Given the description of an element on the screen output the (x, y) to click on. 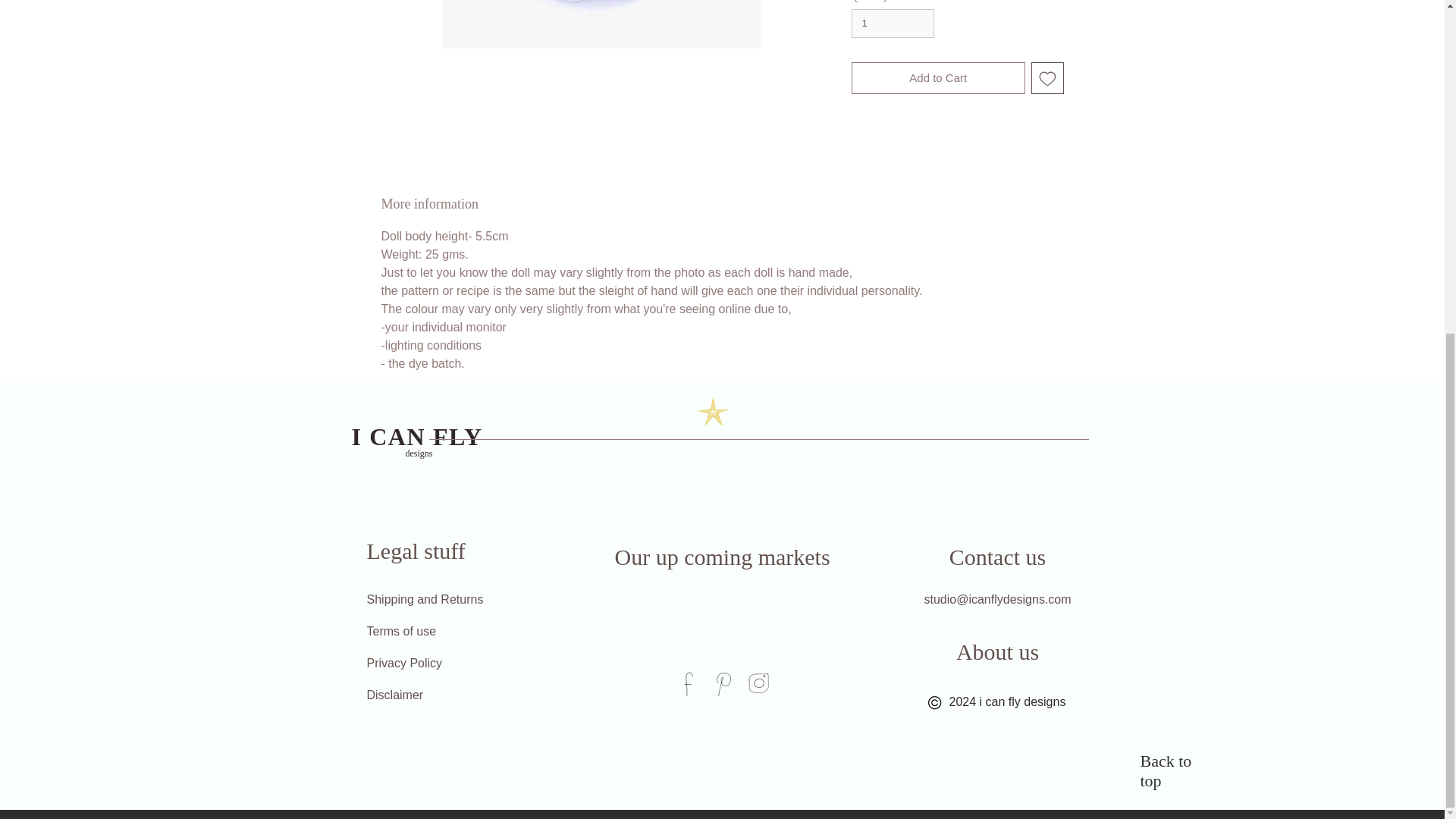
About us (997, 652)
Disclaimer (413, 695)
Contact us (997, 557)
Shipping and Returns (440, 599)
Privacy Policy (431, 663)
Add to Cart (937, 78)
Terms of use (445, 631)
1 (891, 23)
Our up coming markets (721, 557)
I CAN FLY (417, 436)
